Given the description of an element on the screen output the (x, y) to click on. 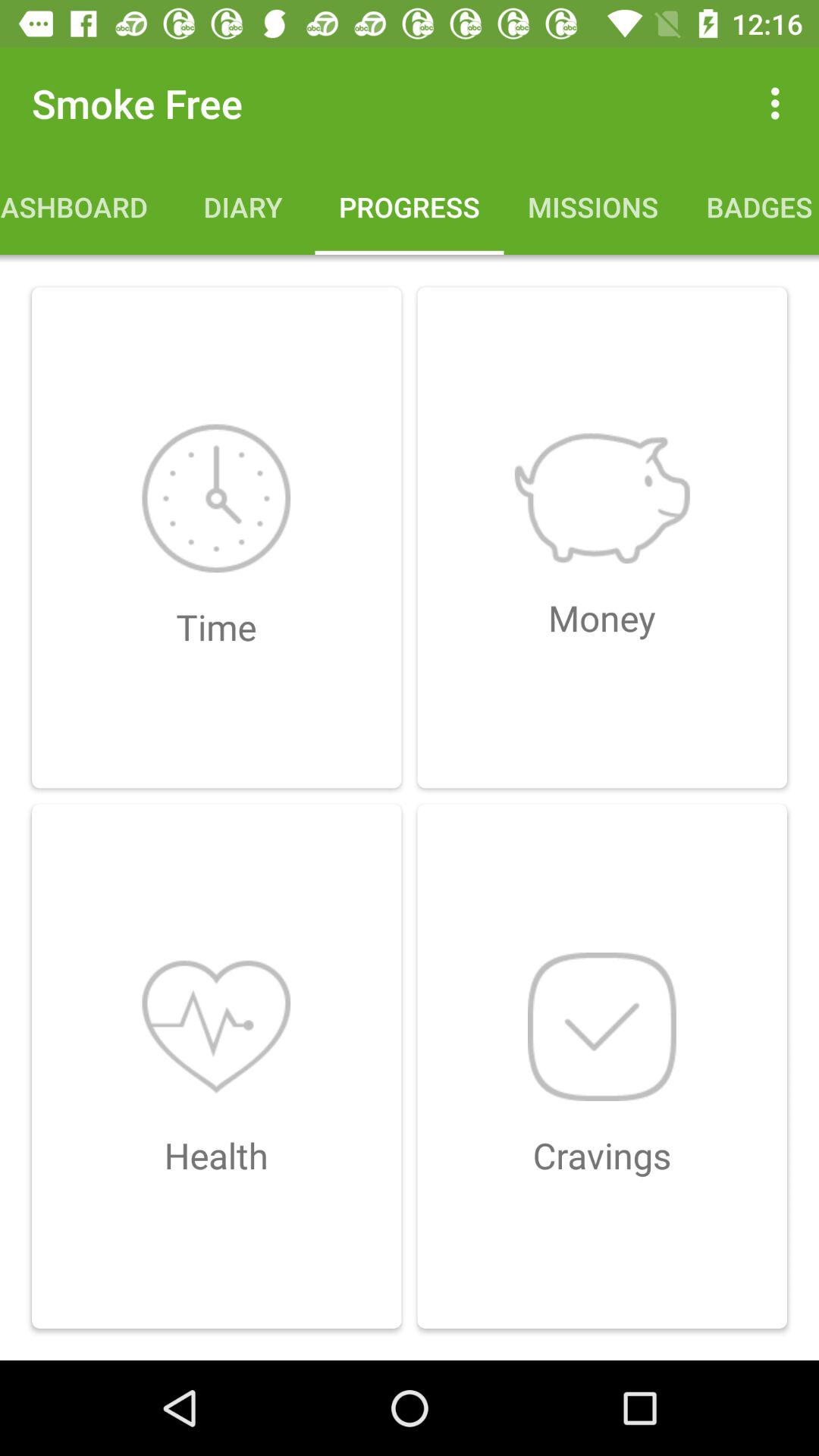
choose item next to smoke free item (779, 103)
